Given the description of an element on the screen output the (x, y) to click on. 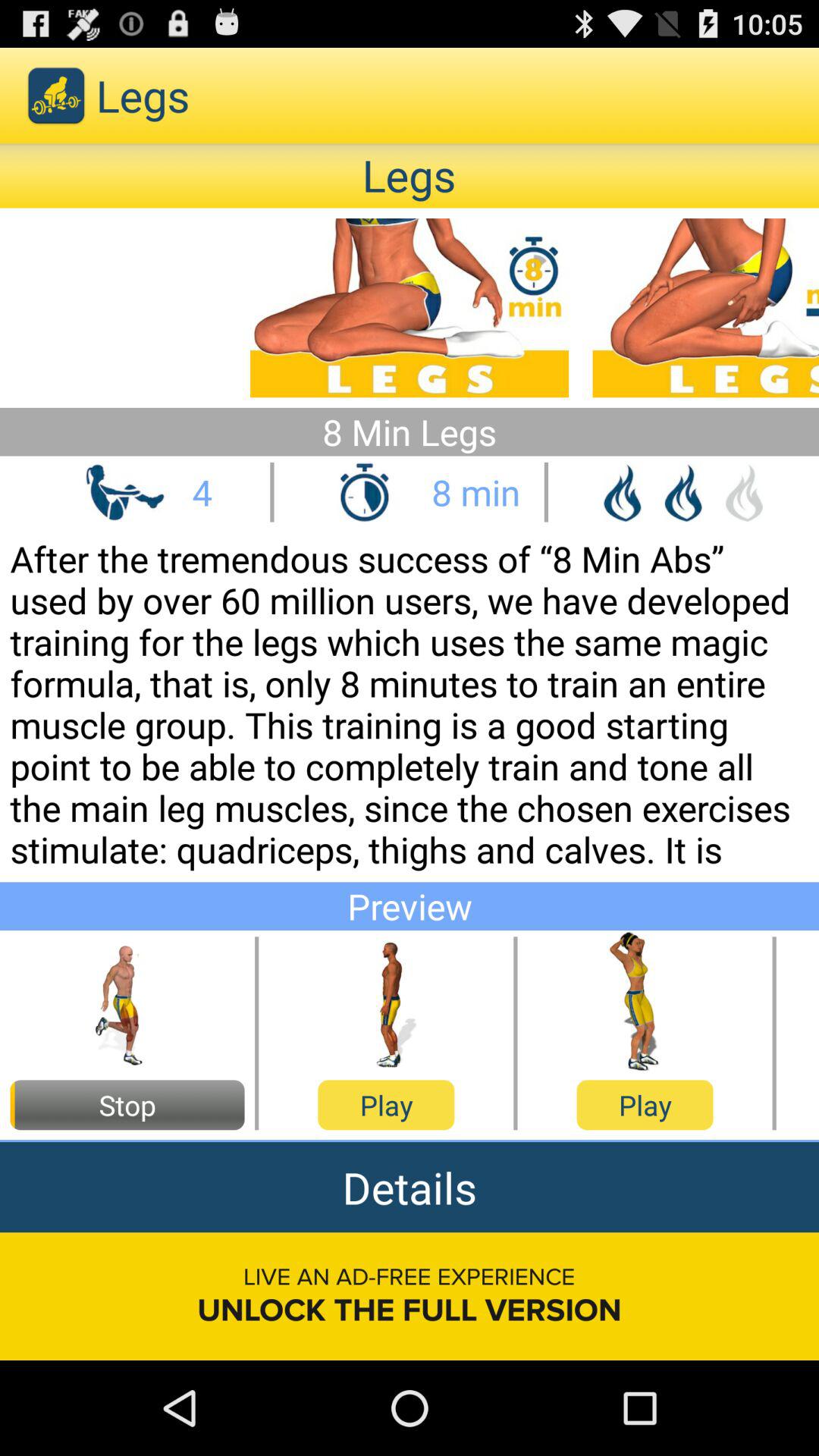
photo of exercise (127, 1001)
